Given the description of an element on the screen output the (x, y) to click on. 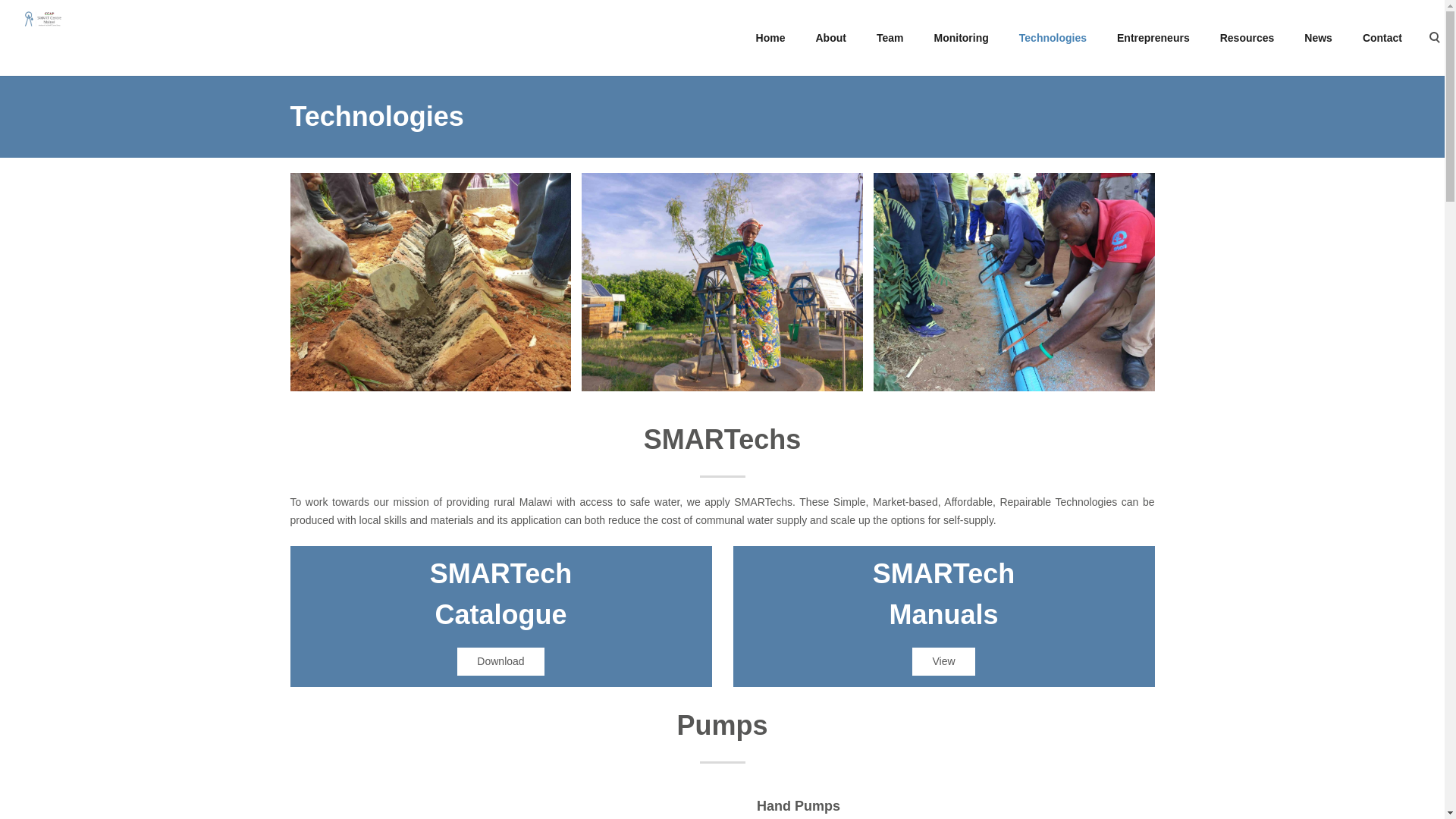
Download (500, 661)
Contact (1382, 38)
Monitoring (960, 38)
Entrepreneurs (1153, 38)
Technologies (1053, 38)
View (943, 661)
Resources (1247, 38)
